Given the description of an element on the screen output the (x, y) to click on. 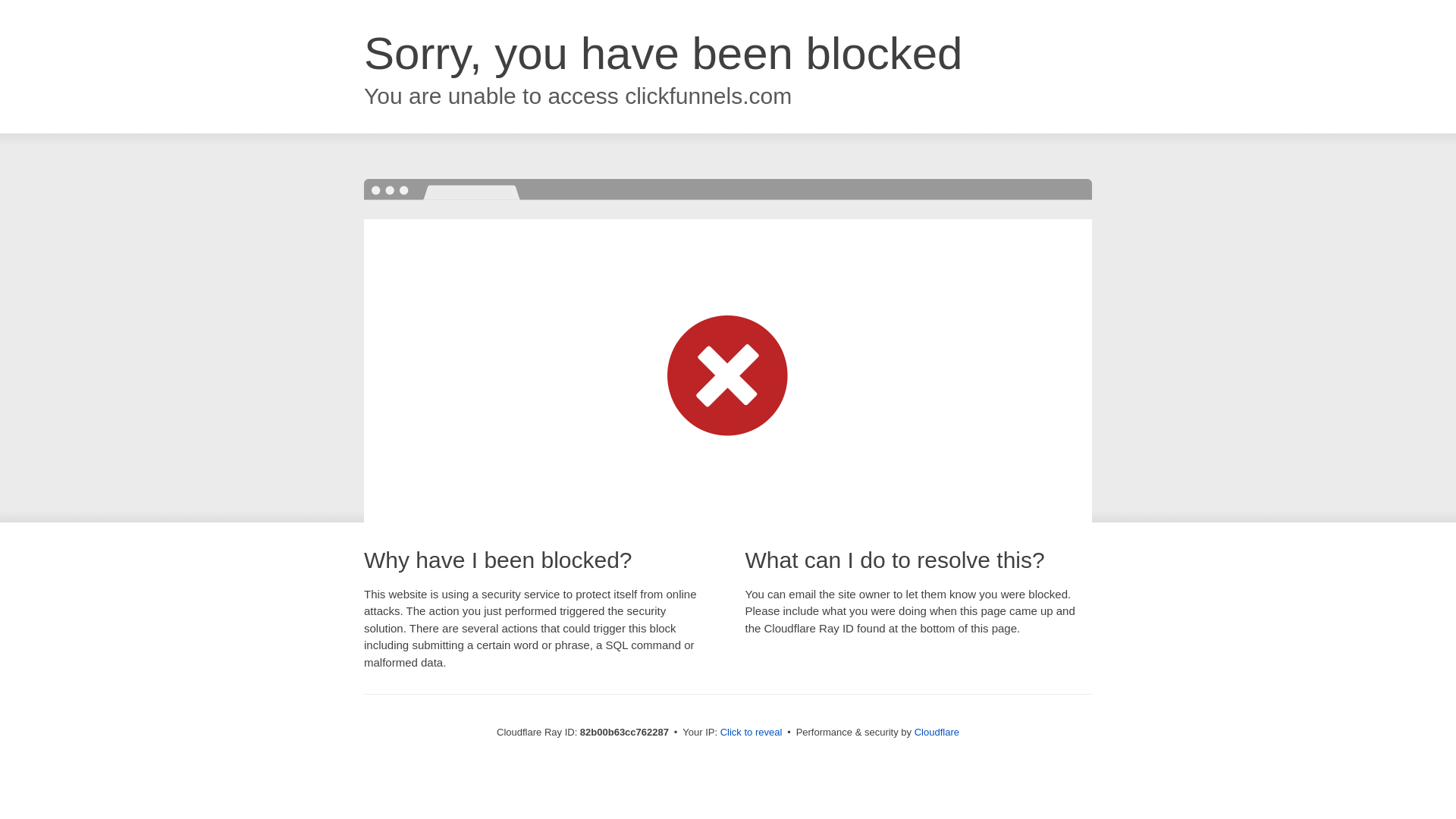
Click to reveal Element type: text (751, 732)
Cloudflare Element type: text (936, 731)
